Given the description of an element on the screen output the (x, y) to click on. 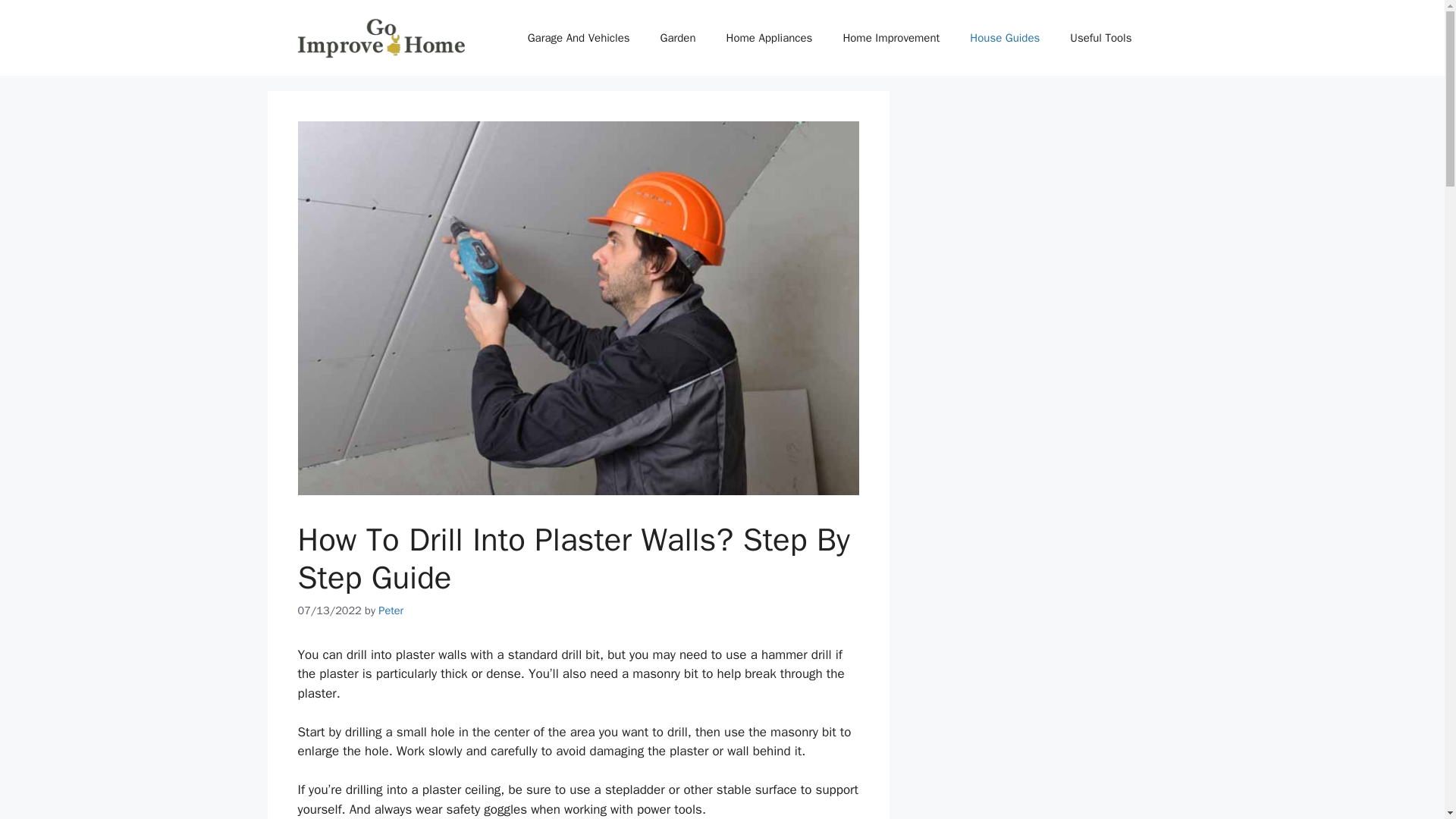
House Guides (1004, 37)
View all posts by Peter (390, 610)
Home Improvement (891, 37)
Home Appliances (769, 37)
Garage And Vehicles (578, 37)
Peter (390, 610)
Garden (678, 37)
Useful Tools (1100, 37)
